Given the description of an element on the screen output the (x, y) to click on. 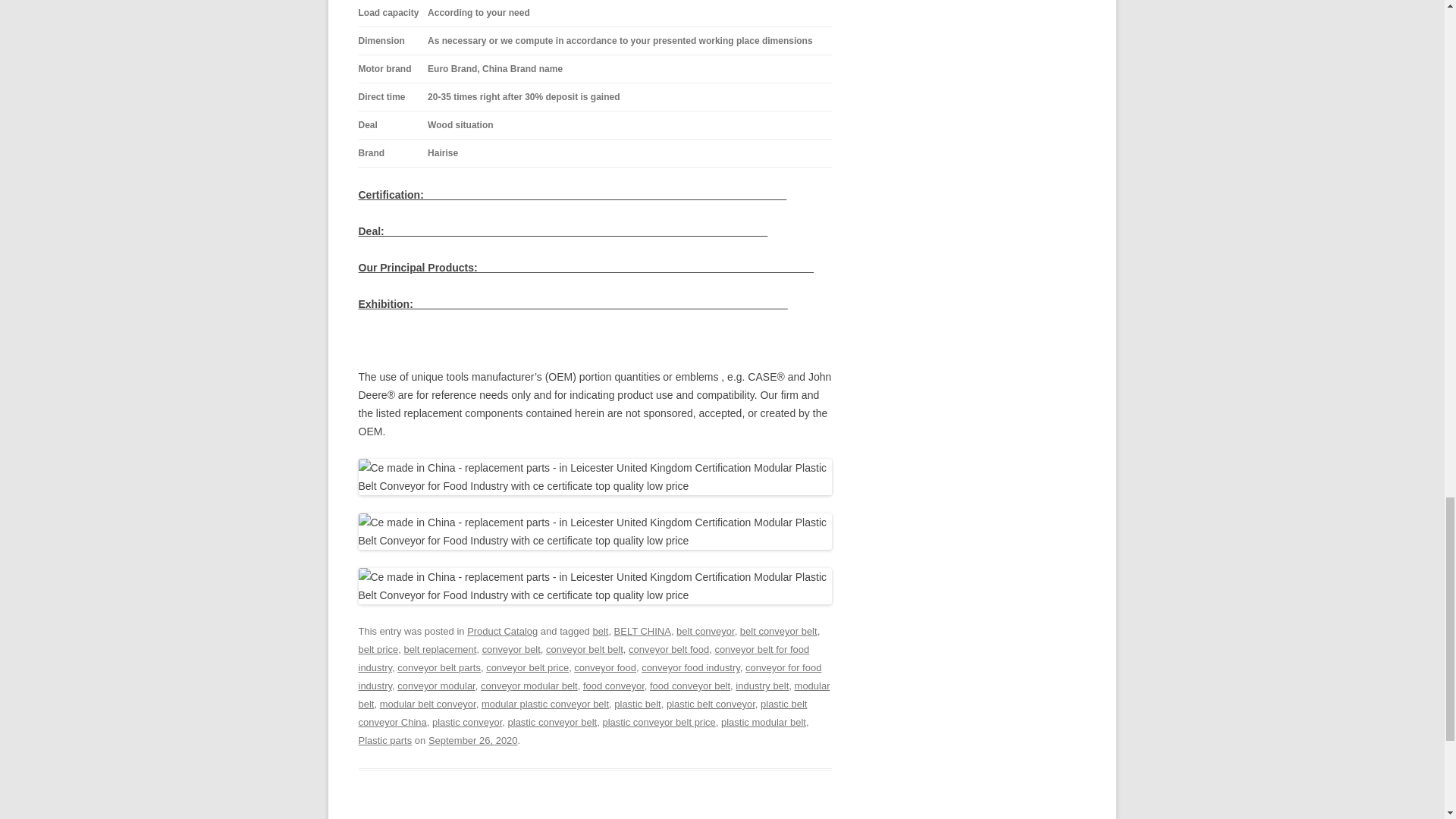
conveyor for food industry (589, 676)
plastic conveyor (467, 722)
conveyor belt food (668, 649)
belt price (377, 649)
conveyor belt (510, 649)
conveyor belt for food industry (583, 658)
BELT CHINA (642, 631)
plastic conveyor belt price (658, 722)
food conveyor belt (689, 685)
conveyor belt belt (584, 649)
conveyor belt price (527, 667)
plastic belt (637, 704)
belt (600, 631)
September 26, 2020 (473, 740)
plastic modular belt (763, 722)
